Given the description of an element on the screen output the (x, y) to click on. 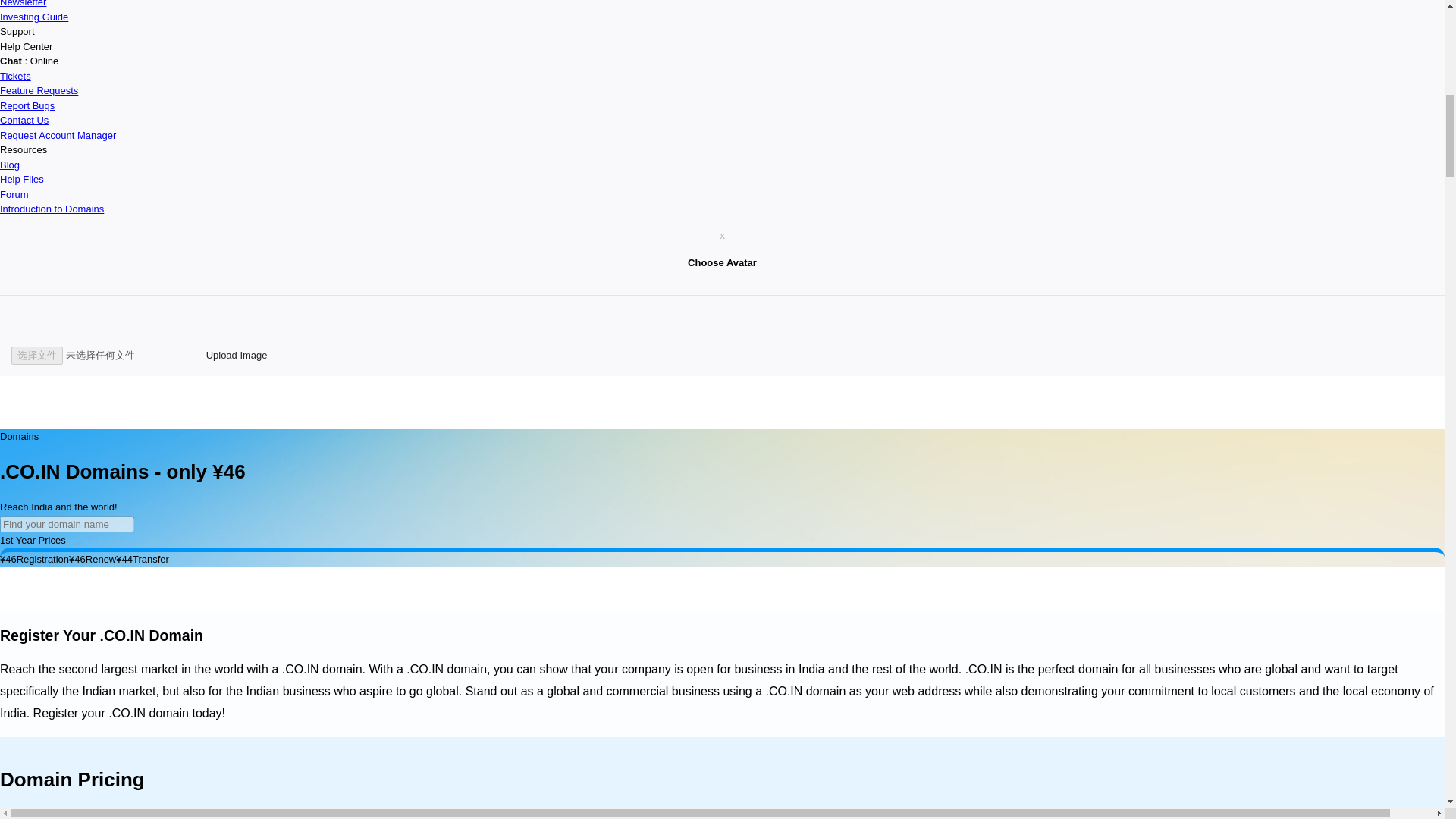
Tickets (15, 75)
Investing Guide (34, 16)
x (721, 235)
Newsletter (23, 3)
